Given the description of an element on the screen output the (x, y) to click on. 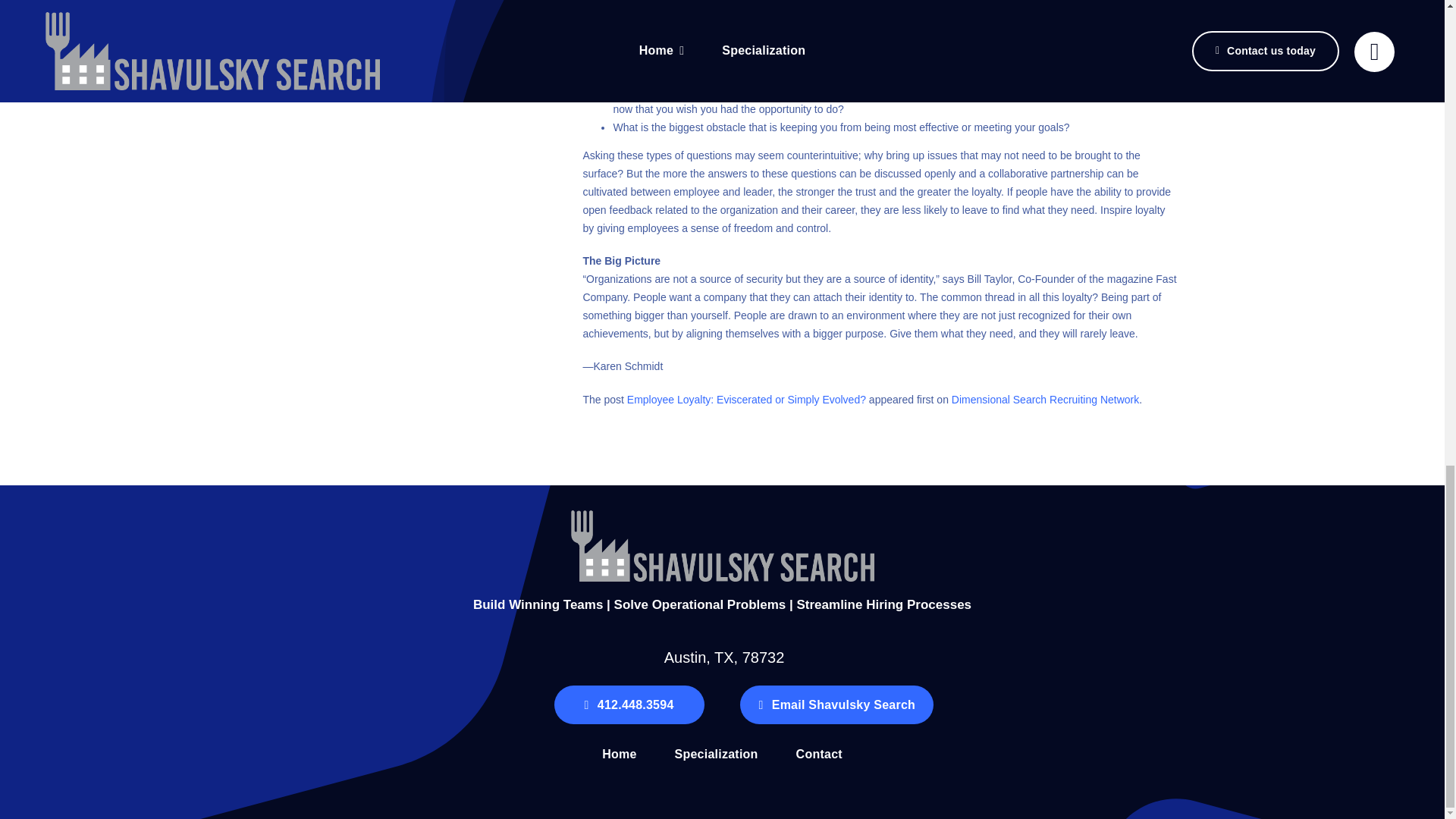
Specialization (716, 754)
Employee Loyalty: Eviscerated or Simply Evolved? (746, 399)
Contact (819, 754)
Email Shavulsky Search (836, 704)
Home (619, 754)
Dimensional Search Recruiting Network (1045, 399)
412.448.3594 (628, 704)
